Given the description of an element on the screen output the (x, y) to click on. 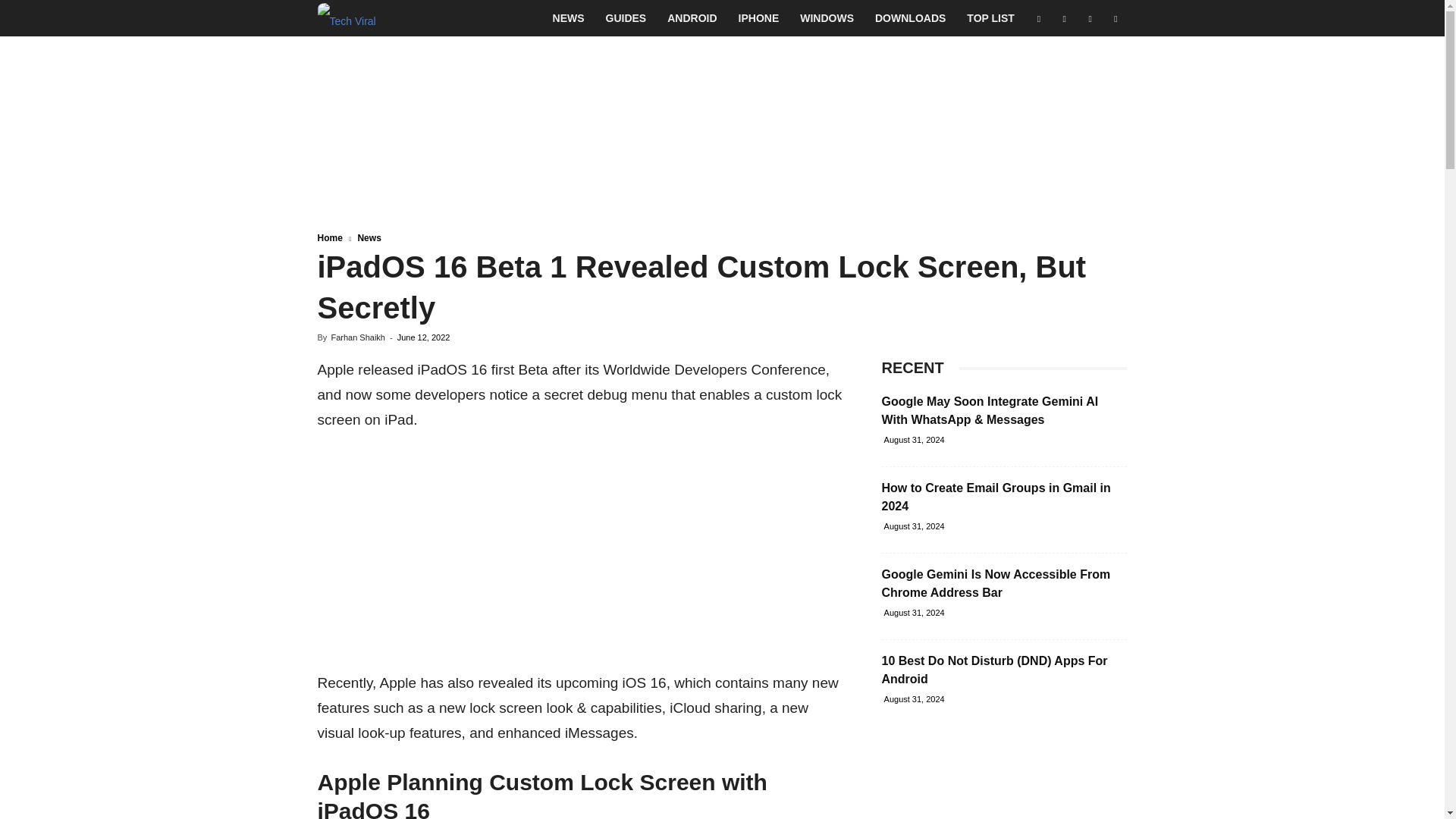
IPHONE (759, 18)
Farhan Shaikh (357, 337)
GUIDES (626, 18)
TOP LIST (990, 18)
DOWNLOADS (910, 18)
ANDROID (691, 18)
Home (329, 237)
NEWS (568, 18)
Tech Viral (346, 18)
TechViral (346, 18)
